Given the description of an element on the screen output the (x, y) to click on. 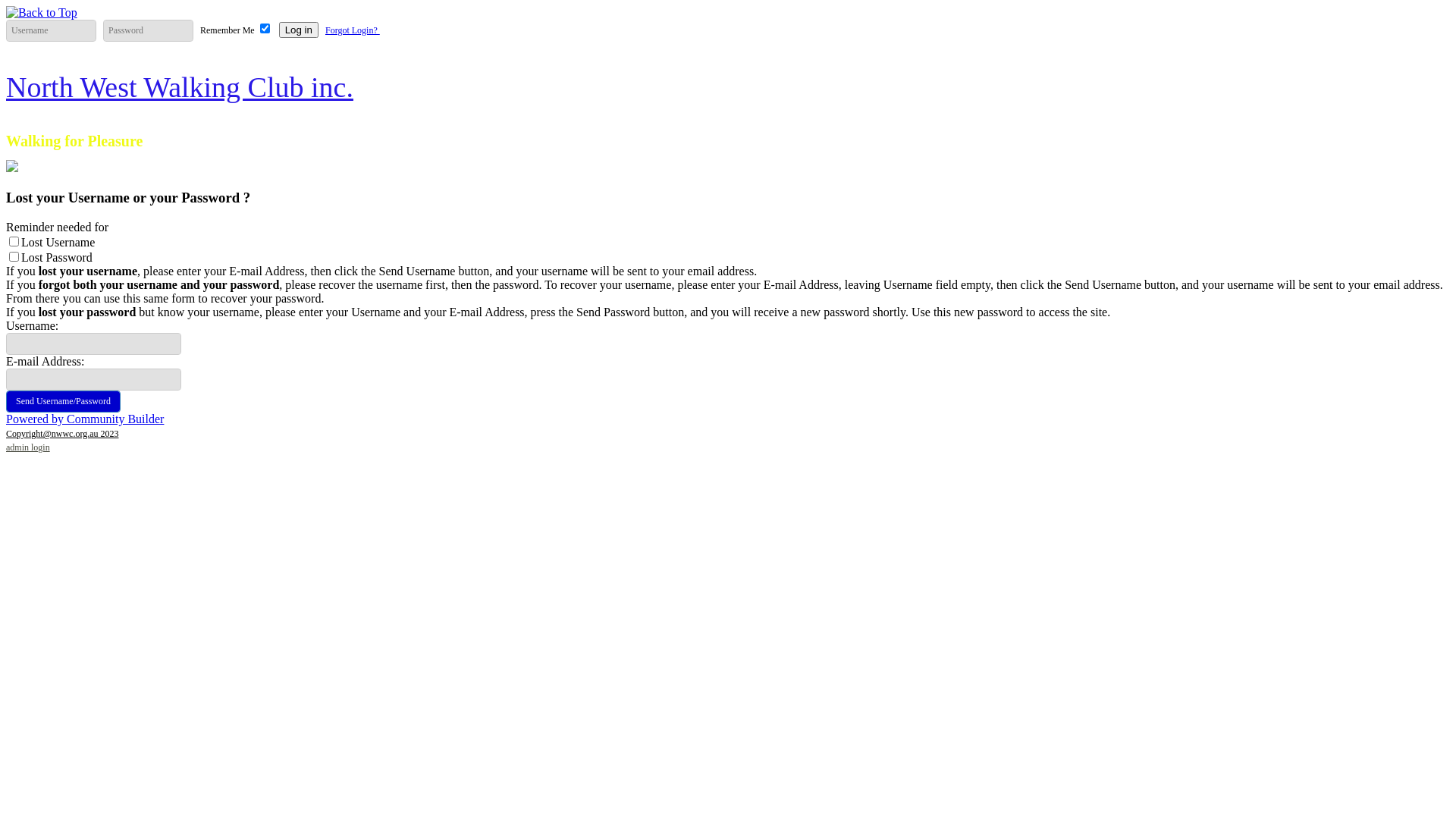
Forgot Login? Element type: text (352, 30)
North West Walking Club inc. Element type: text (179, 87)
Powered by Community Builder Element type: text (84, 418)
Copyright@nwwc.org.au 2023 Element type: text (62, 433)
Log in Element type: text (298, 29)
Send Username/Password Element type: text (63, 401)
admin login Element type: text (28, 447)
